Given the description of an element on the screen output the (x, y) to click on. 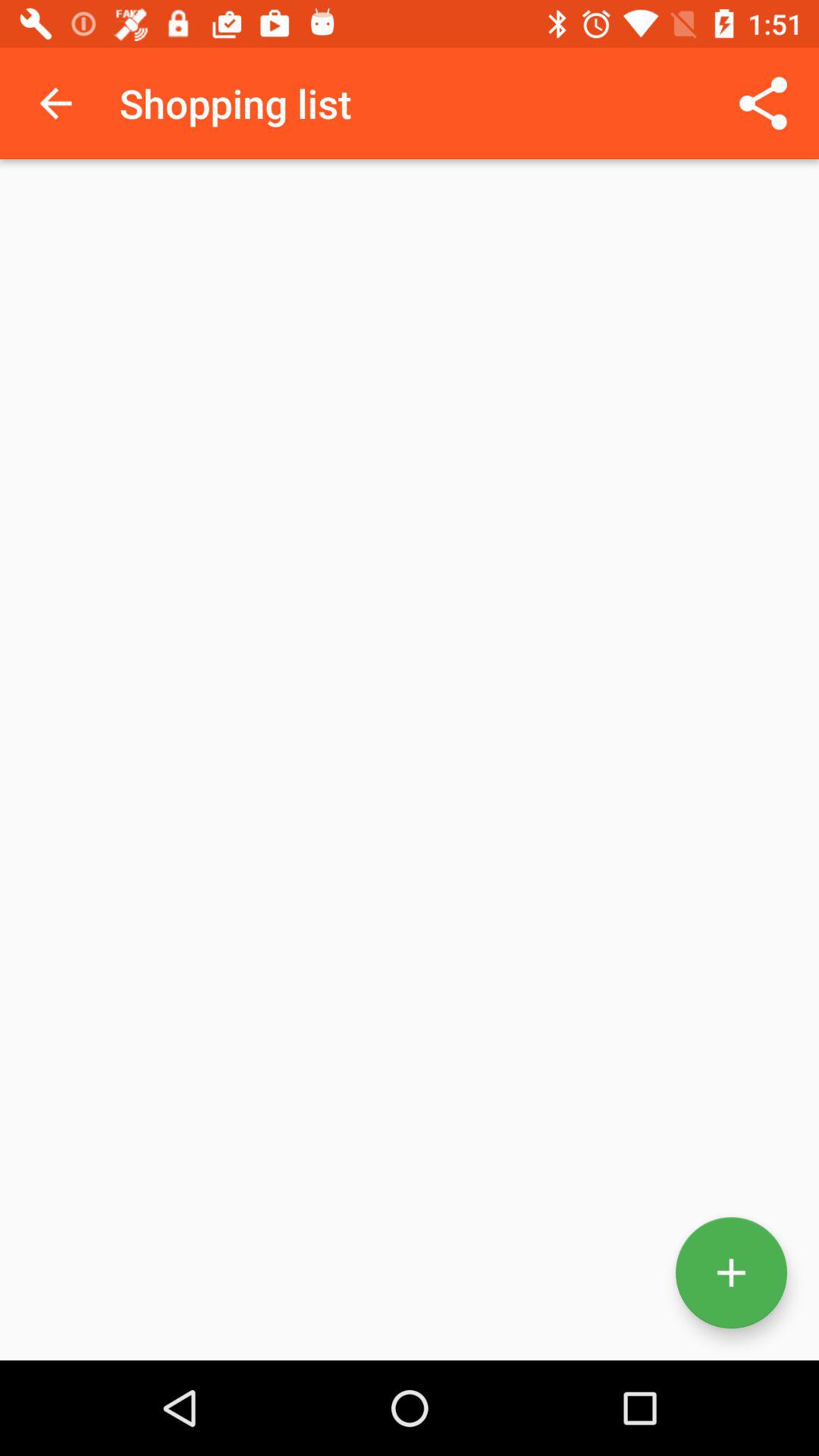
open icon next to the shopping list icon (55, 103)
